Given the description of an element on the screen output the (x, y) to click on. 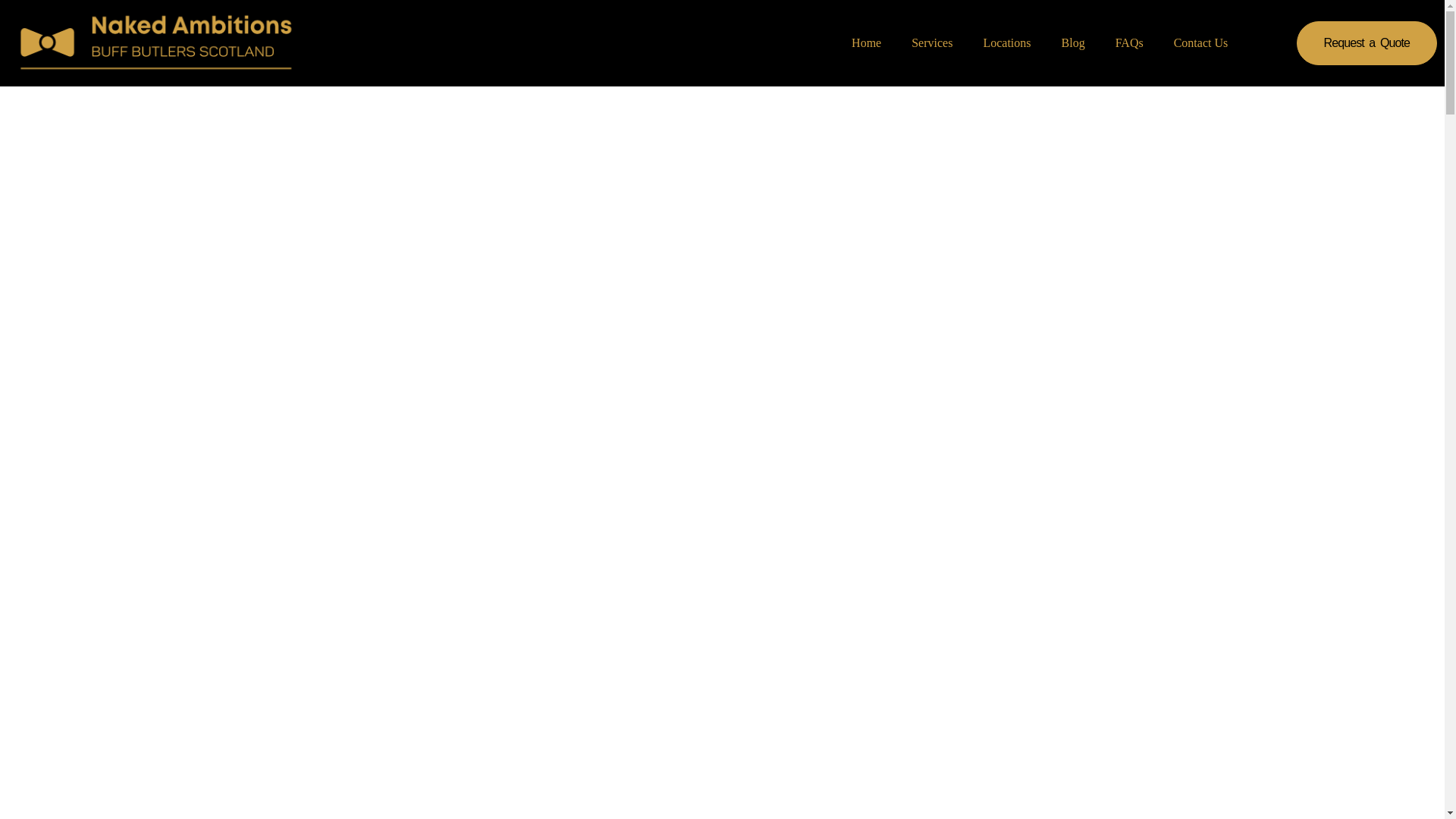
Home (865, 42)
Services (932, 42)
FAQs (1129, 42)
Request a Quote (1367, 43)
Contact Us (1200, 42)
Locations (1006, 42)
Blog (1073, 42)
